Given the description of an element on the screen output the (x, y) to click on. 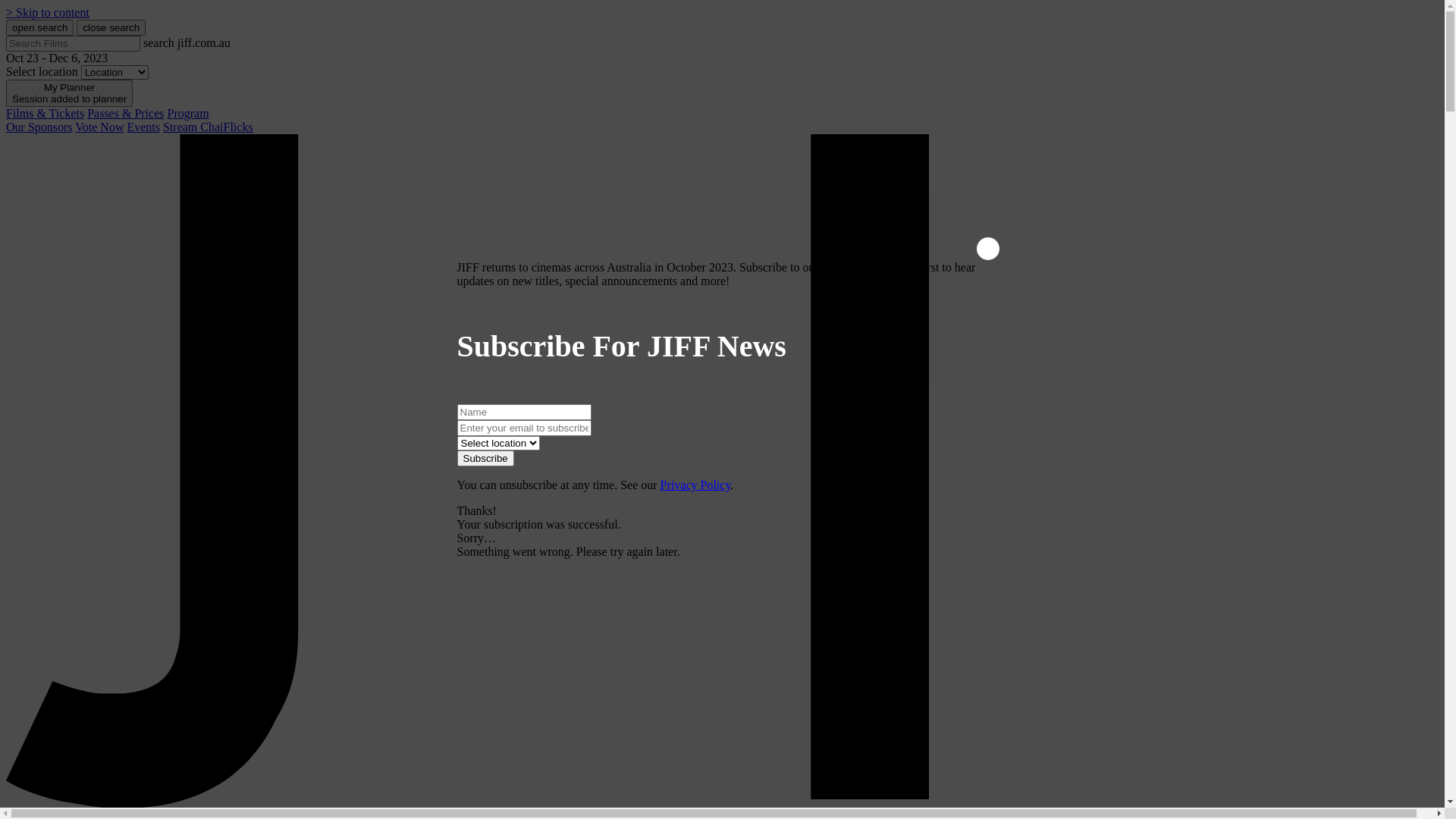
> Skip to content Element type: text (47, 12)
Stream ChaiFlicks Element type: text (208, 126)
Passes & Prices Element type: text (125, 112)
Subscribe Element type: text (484, 458)
Privacy Policy Element type: text (695, 484)
Films & Tickets Element type: text (45, 112)
close search Element type: text (110, 27)
My Planner
Session added to planner Element type: text (69, 92)
Vote Now Element type: text (99, 126)
Events Element type: text (143, 126)
Our Sponsors Element type: text (39, 126)
open search Element type: text (39, 27)
Program Element type: text (187, 112)
